Given the description of an element on the screen output the (x, y) to click on. 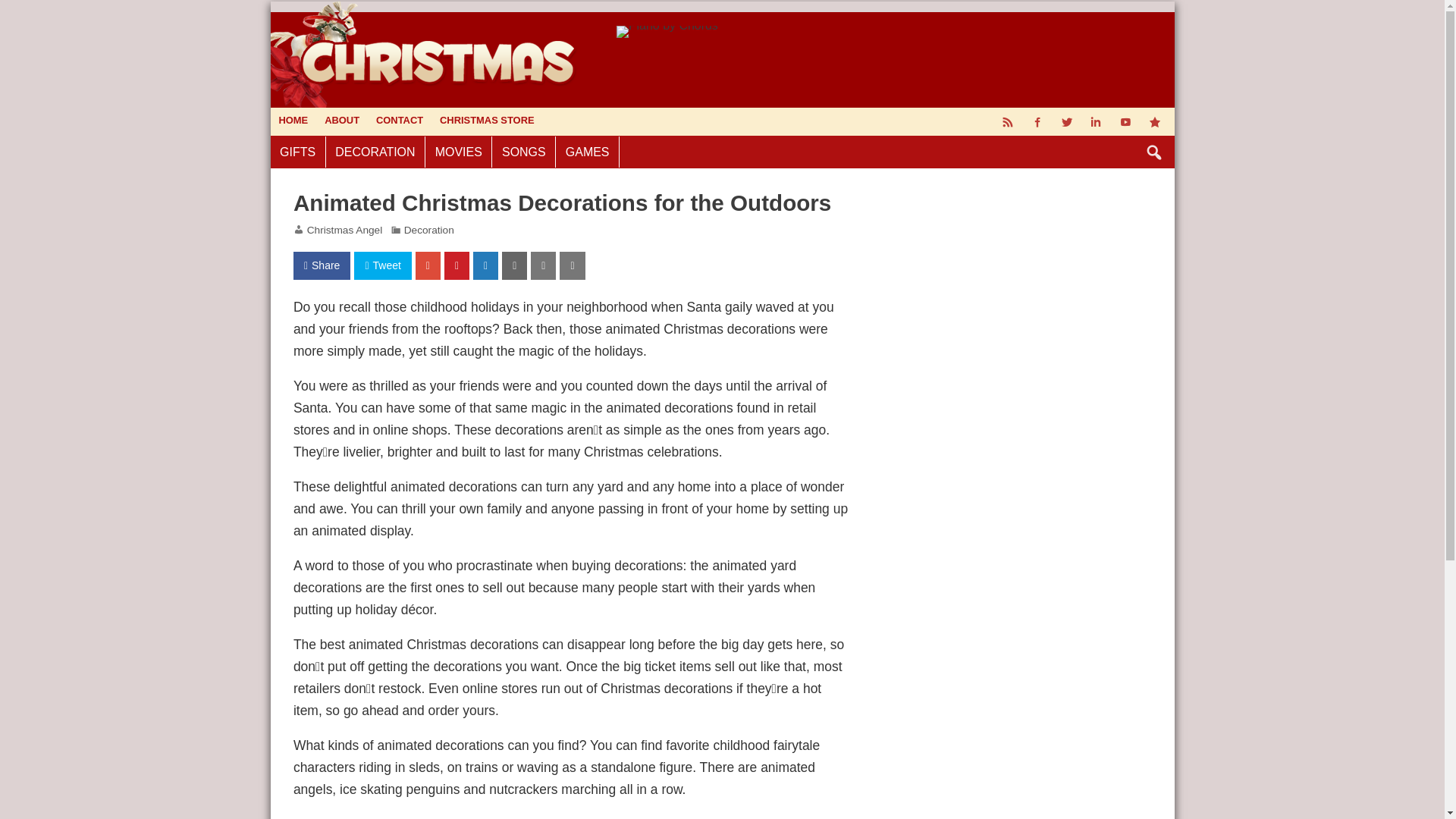
Christmas Season (422, 6)
Decoration (429, 229)
ABOUT (341, 120)
GAMES (587, 151)
Share On Google Plus (427, 265)
CHRISTMAS STORE (485, 120)
View all posts by Christmas Angel (344, 229)
Share On Facebook (322, 265)
Christmas Angel (344, 229)
Pin On Pinterest (456, 265)
